Given the description of an element on the screen output the (x, y) to click on. 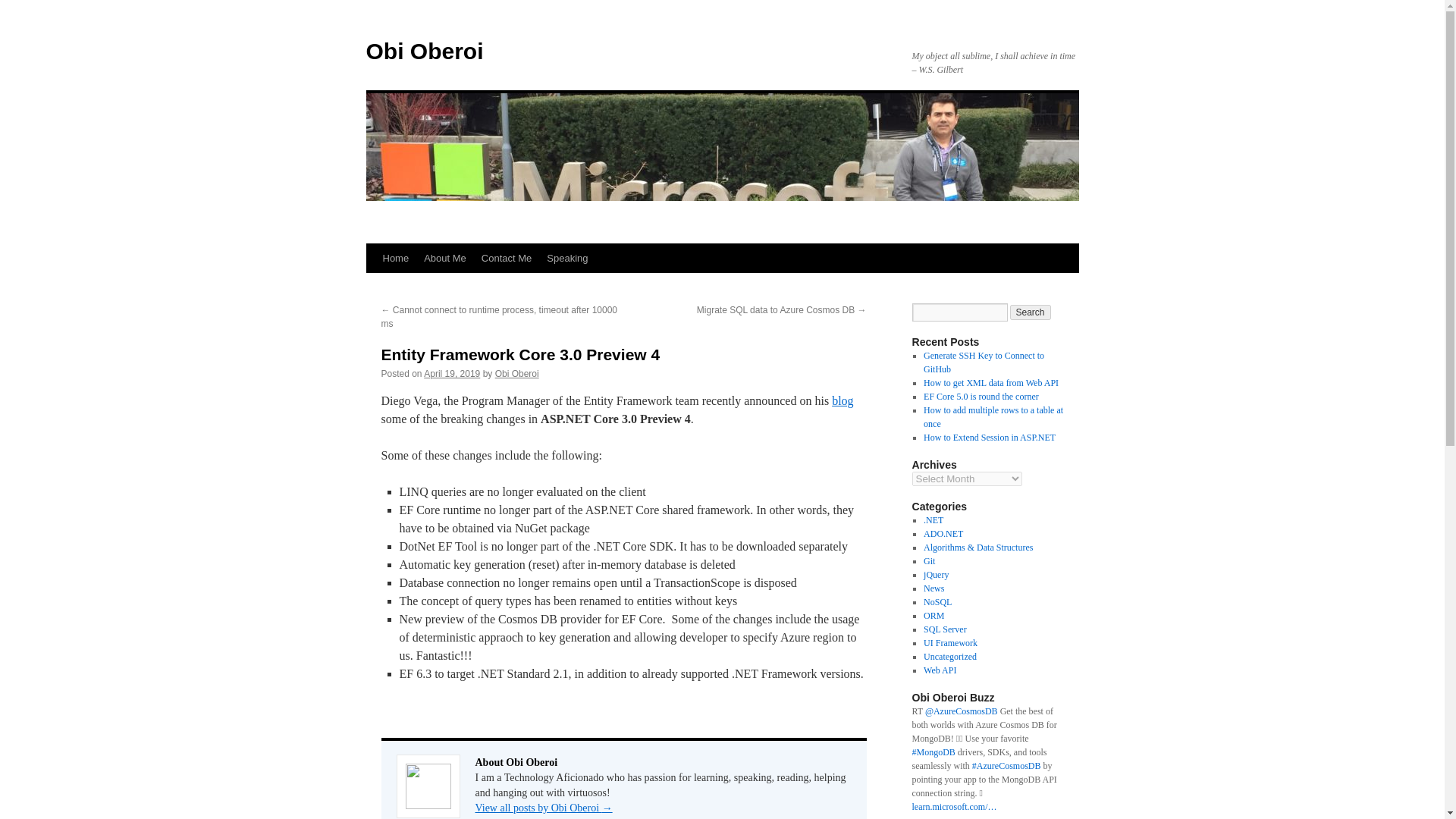
Obi Oberoi (424, 50)
6:57 pm (451, 373)
NoSQL (937, 602)
.NET (933, 520)
April 19, 2019 (451, 373)
Generate SSH Key to Connect to GitHub (983, 362)
News (933, 588)
ORM (933, 615)
jQuery (936, 574)
SQL Server (944, 629)
